Given the description of an element on the screen output the (x, y) to click on. 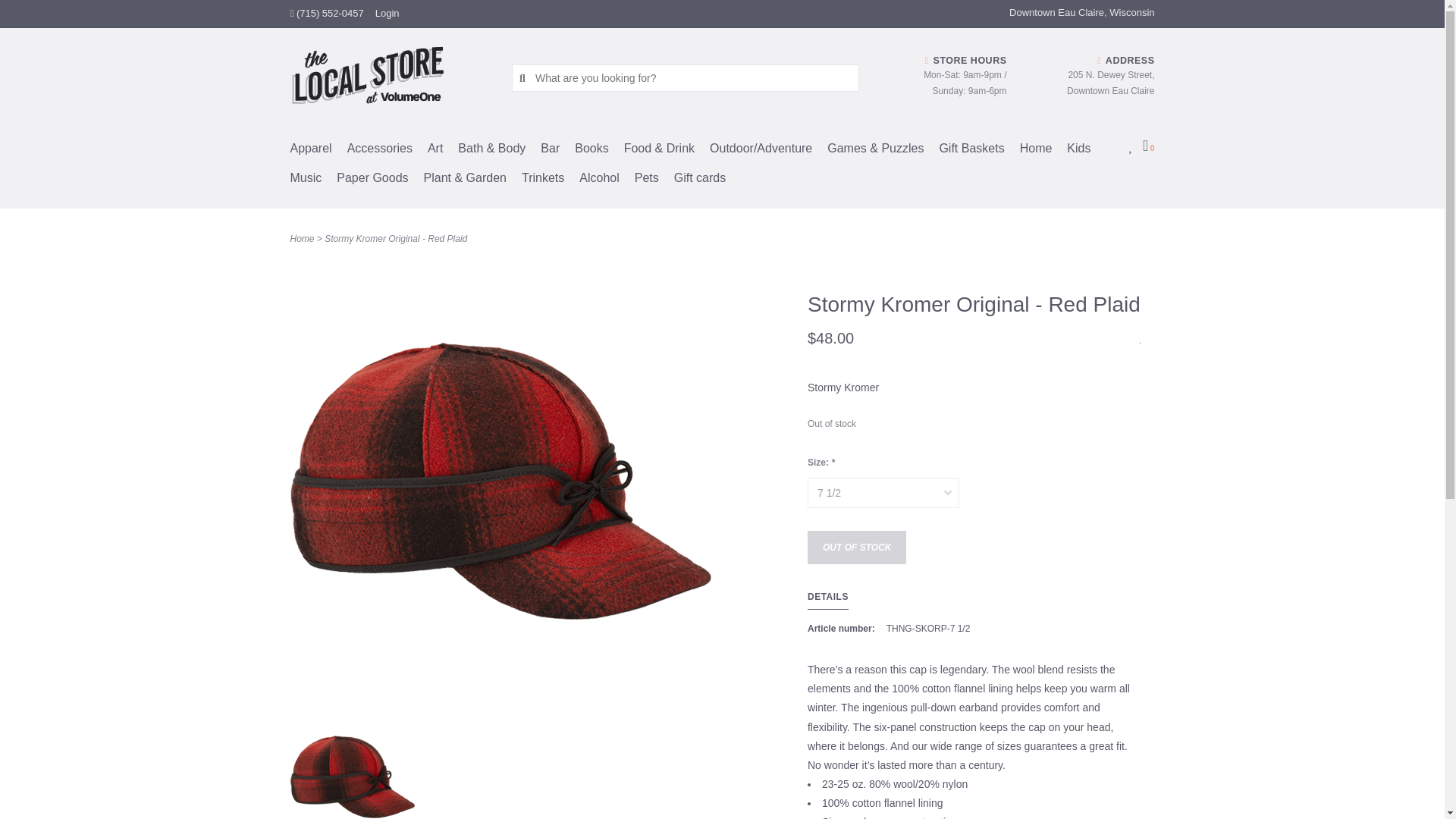
Accessories (387, 152)
Bar (557, 152)
Login (386, 12)
Art (443, 152)
The Local Store - Eau Claire, WI - Shop Online (389, 77)
Apparel (317, 152)
My account (386, 12)
Apparel (317, 152)
Accessories (387, 152)
